Given the description of an element on the screen output the (x, y) to click on. 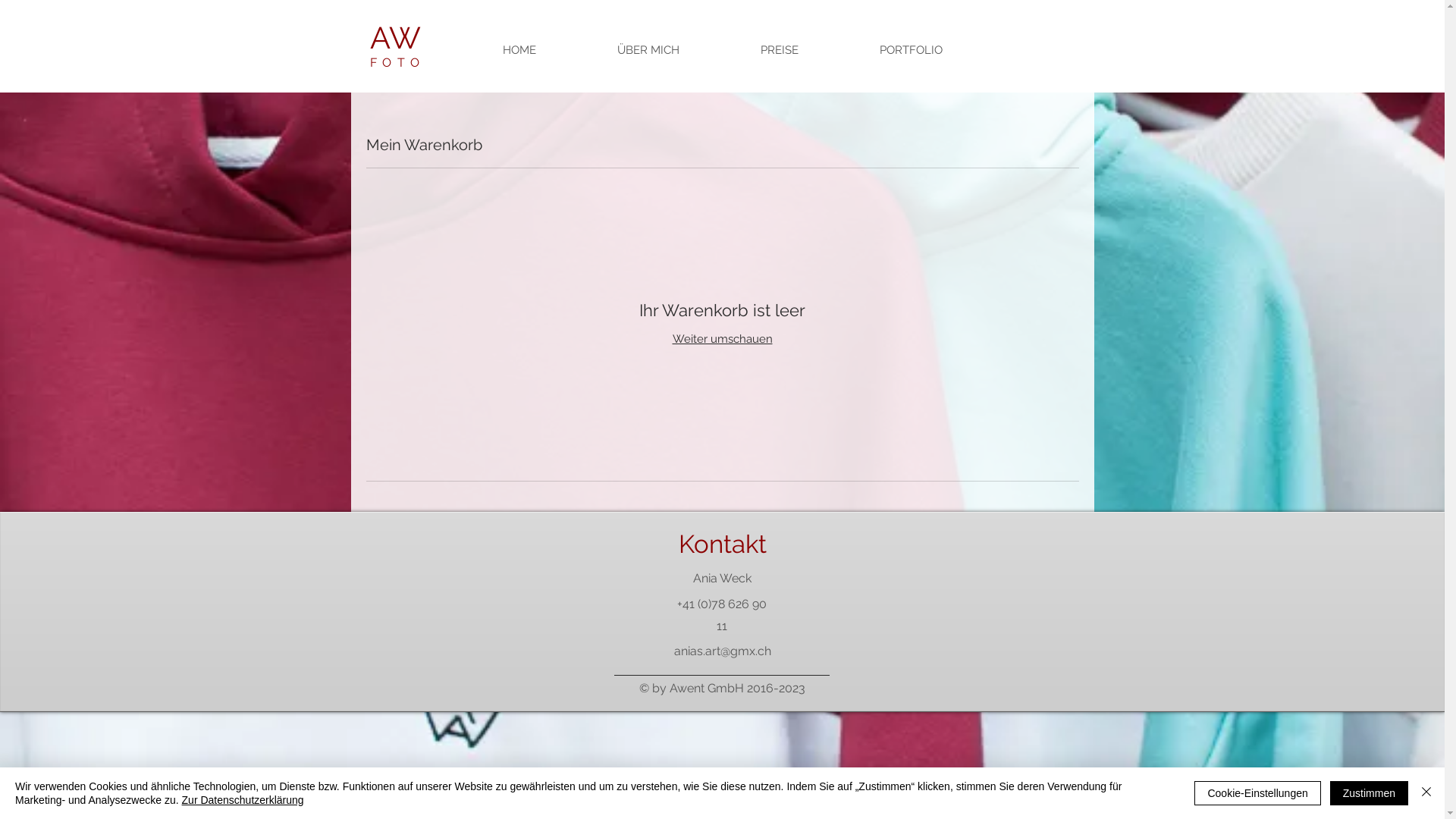
Ania Weck Element type: text (722, 578)
Cookie-Einstellungen Element type: text (1257, 793)
PREISE Element type: text (779, 49)
Zustimmen Element type: text (1369, 793)
AW
FOTO Element type: text (397, 46)
+41 (0)78 626 90 11 Element type: text (721, 614)
HOME Element type: text (518, 49)
PORTFOLIO Element type: text (910, 49)
anias.art@gmx.ch Element type: text (721, 650)
Weiter umschauen Element type: text (721, 338)
